Given the description of an element on the screen output the (x, y) to click on. 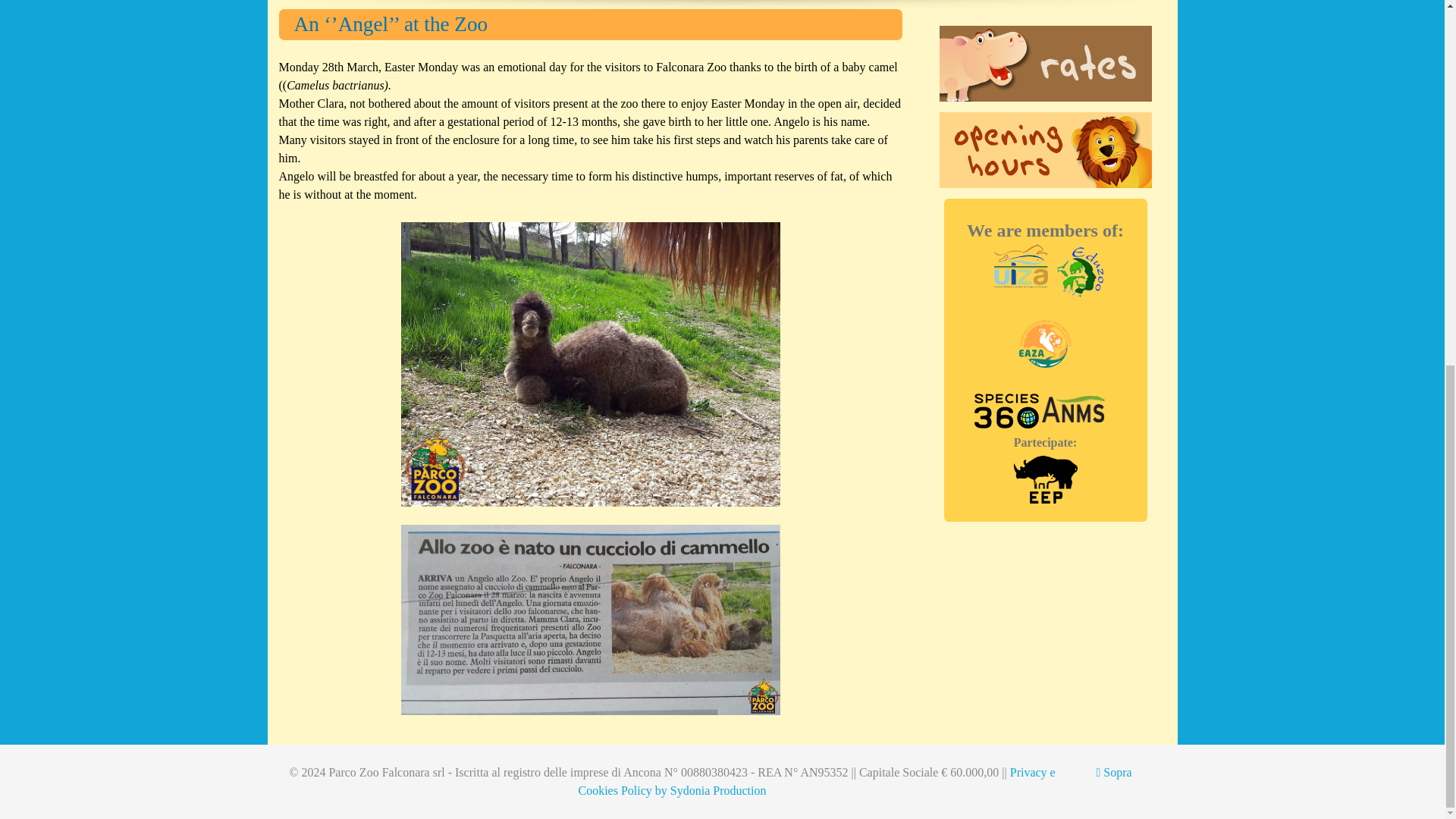
Partecipiamo a: EEP European Endangered species Program (1045, 479)
Membro di - EDUZOO Educare per conservare (1080, 271)
Realizzazione siti internet by Sydonia Production (711, 789)
Membro di EAZA - European Association of Zoos and Aquaria (1045, 343)
